Given the description of an element on the screen output the (x, y) to click on. 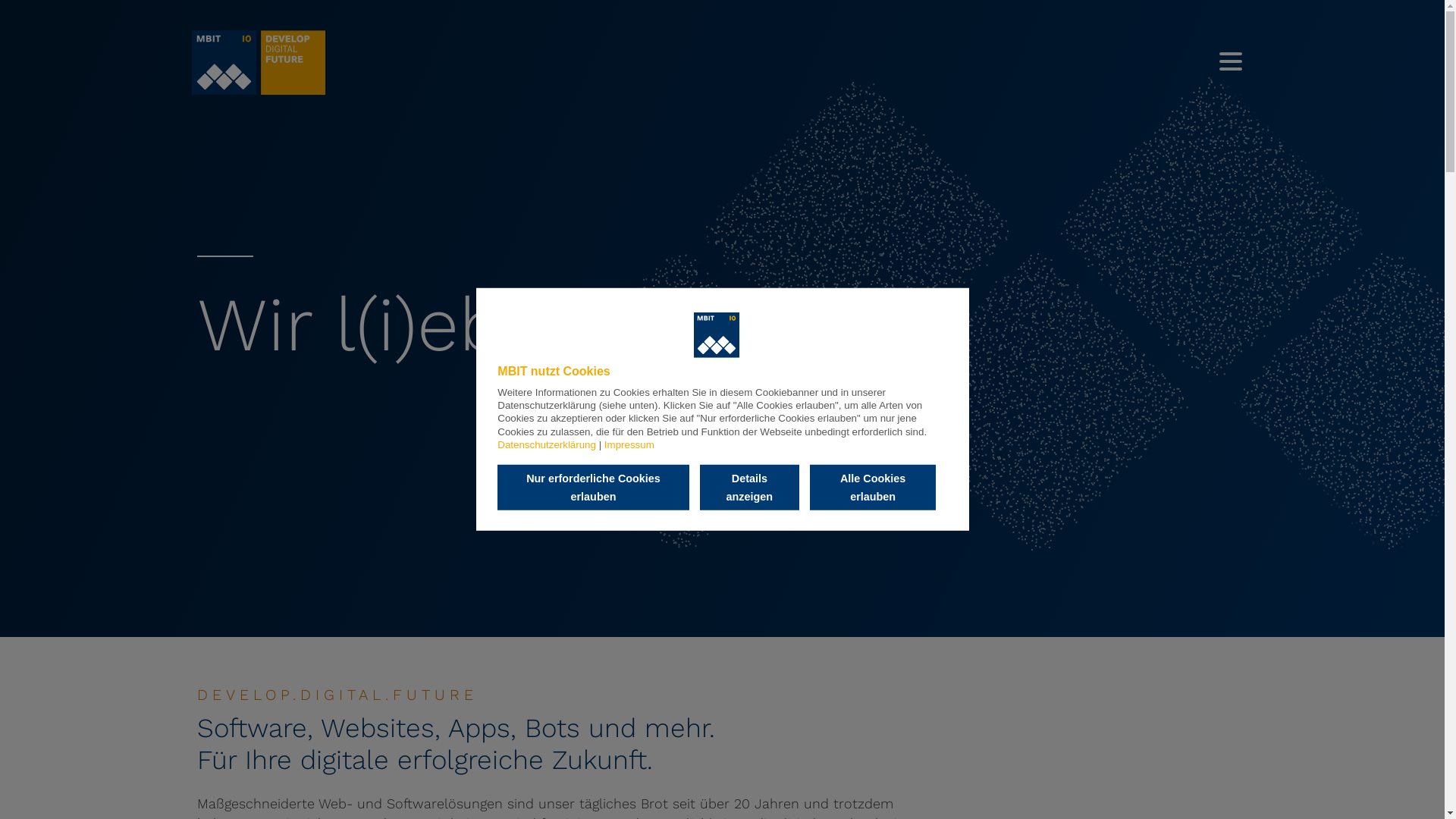
Details anzeigen Element type: text (748, 487)
Impressum Element type: text (626, 444)
Navigation umschalten Element type: hover (1229, 62)
Startseite Element type: hover (257, 62)
Alle Cookies erlauben Element type: text (872, 487)
Nur erforderliche Cookies erlauben Element type: text (592, 487)
